Given the description of an element on the screen output the (x, y) to click on. 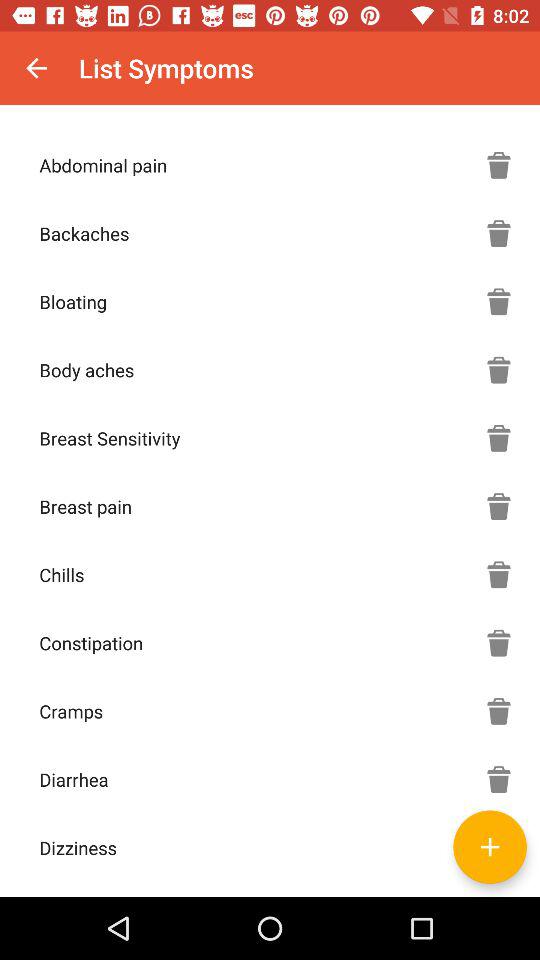
choose the item above the abdominal pain item (36, 68)
